Given the description of an element on the screen output the (x, y) to click on. 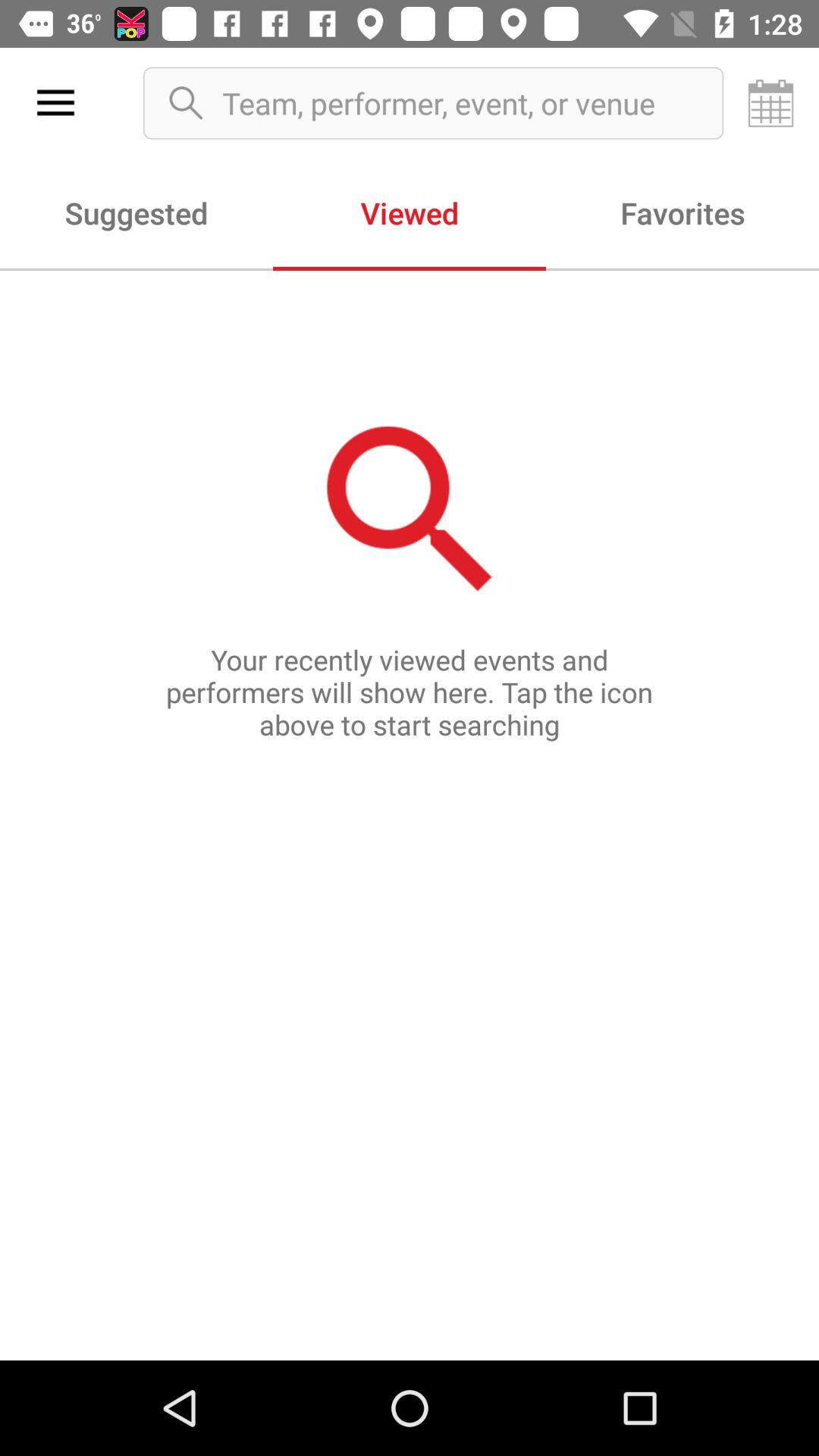
jump until favorites (682, 212)
